Given the description of an element on the screen output the (x, y) to click on. 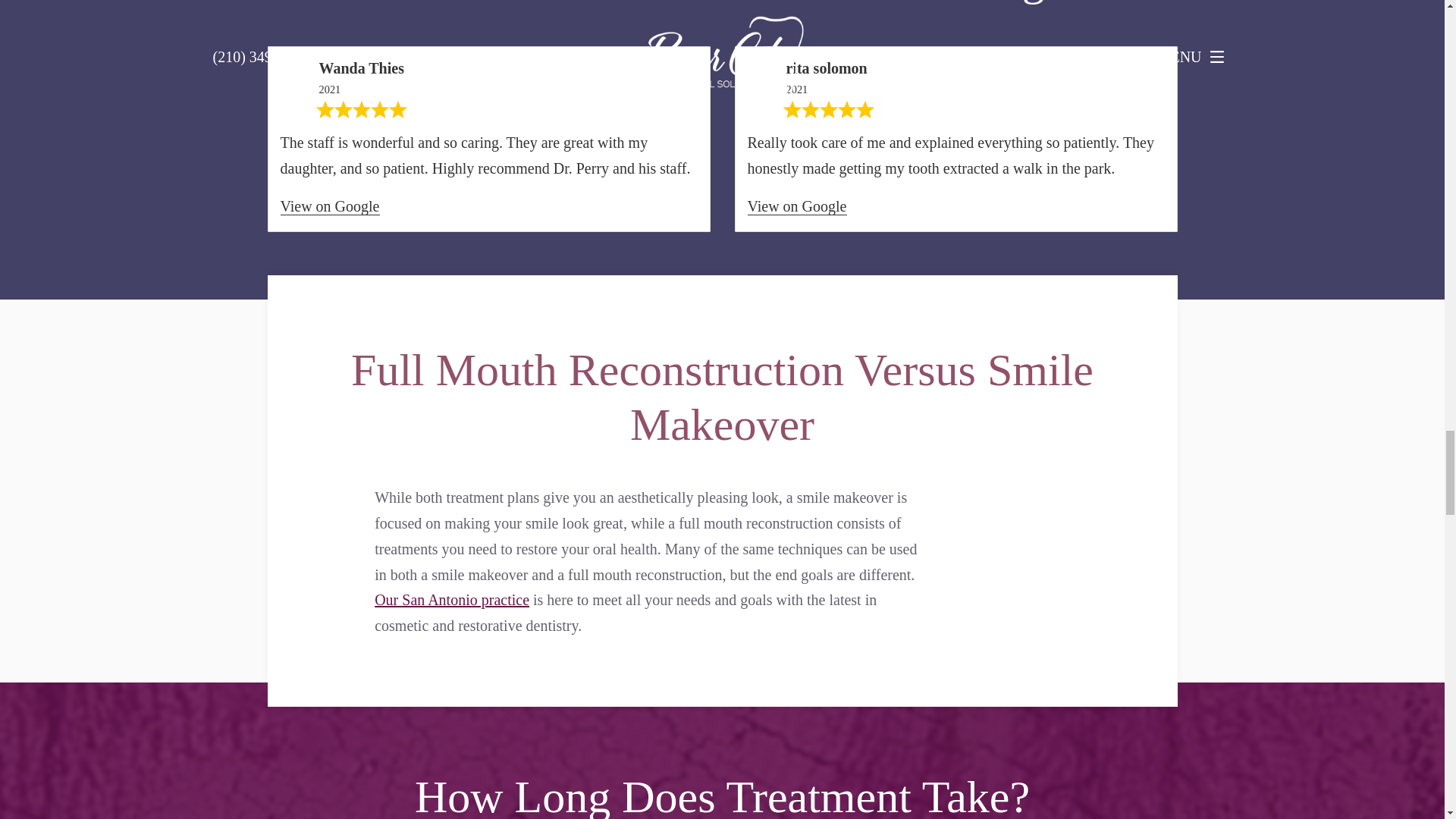
Our San Antonio practice (451, 599)
View on Google (330, 206)
View on Google (797, 206)
